Given the description of an element on the screen output the (x, y) to click on. 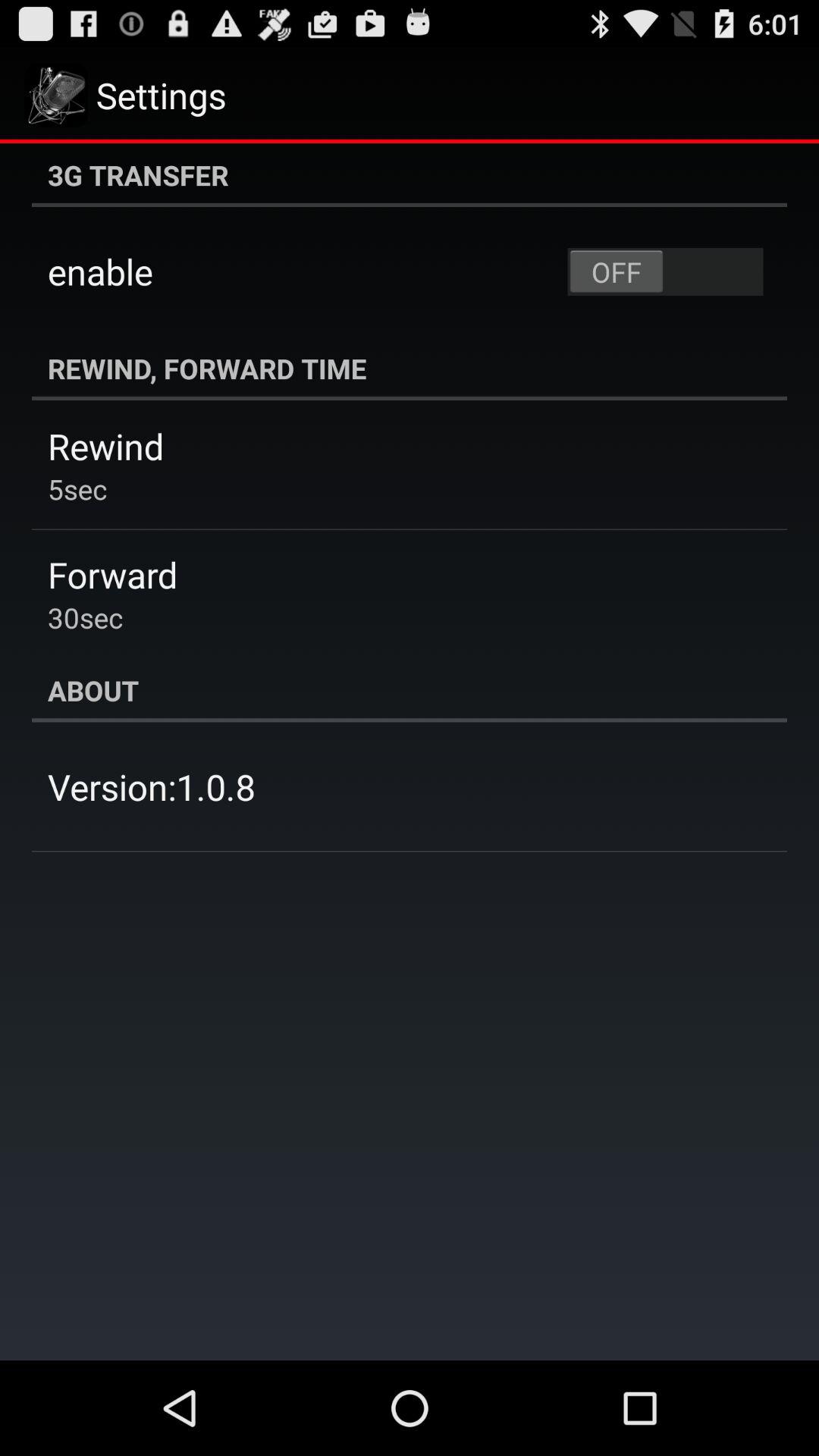
swipe to version 1 0 icon (151, 786)
